Given the description of an element on the screen output the (x, y) to click on. 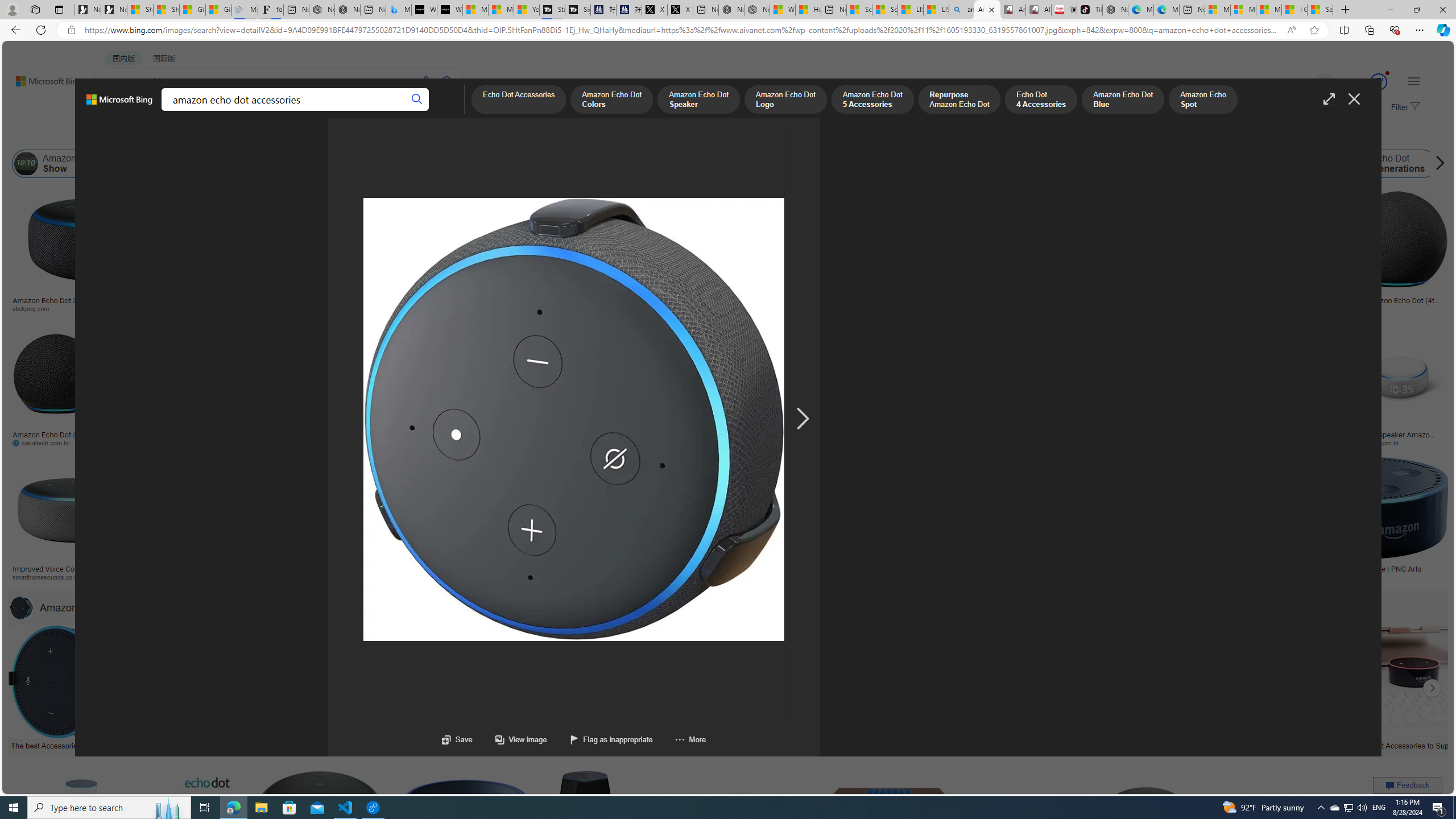
IMAGES (156, 111)
skroutz.gr (871, 576)
Best Amazon Echo Dot Accessories for 2024 (976, 744)
Dropdown Menu (443, 111)
mediamarkt.es (674, 576)
Image size (127, 135)
Microsoft Bing, Back to Bing search (118, 104)
TikTok (1089, 9)
